Given the description of an element on the screen output the (x, y) to click on. 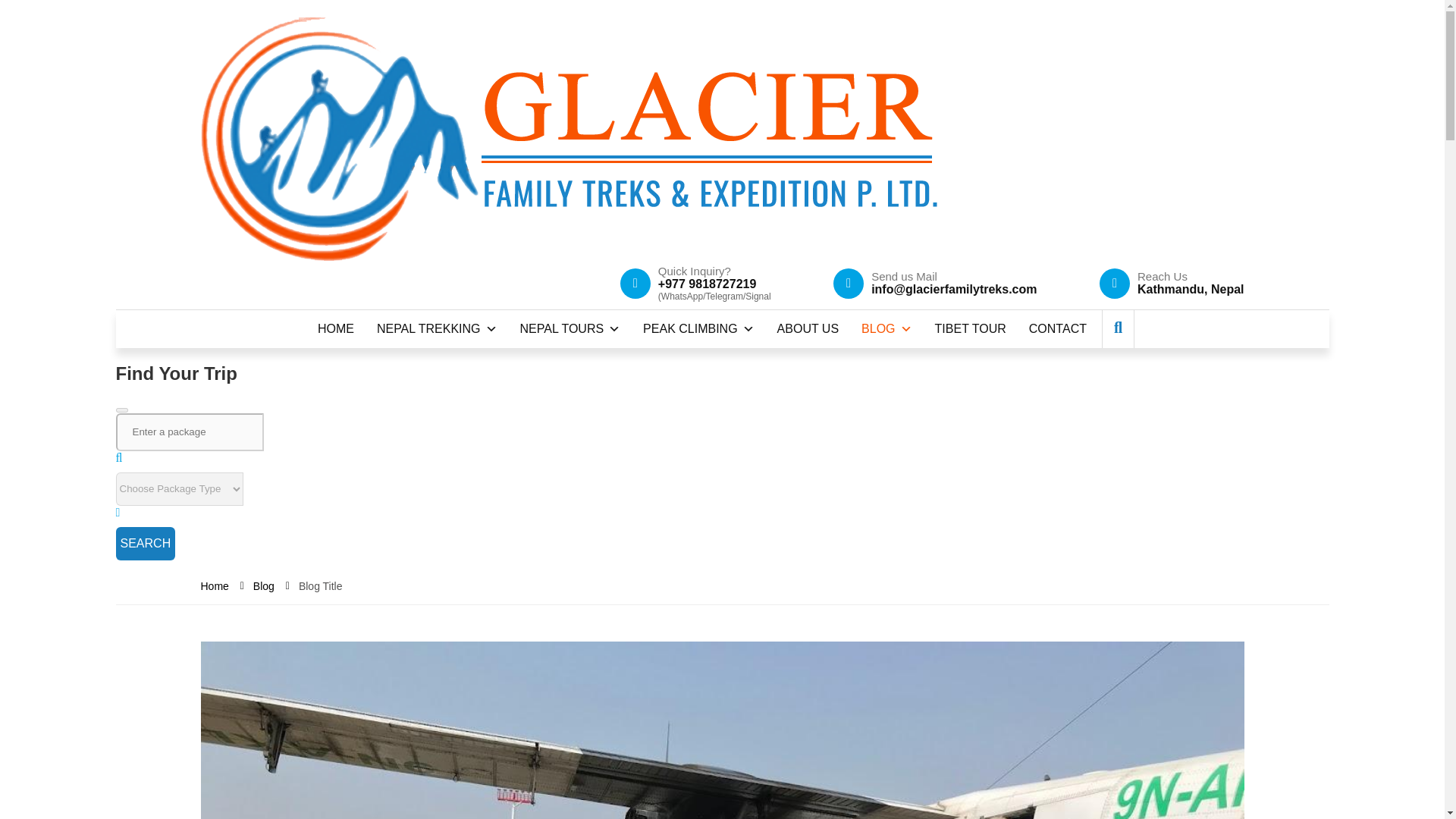
SEARCH (144, 543)
Kathmandu, Nepal (1190, 288)
HOME (335, 329)
NEPAL TREKKING (437, 329)
